Given the description of an element on the screen output the (x, y) to click on. 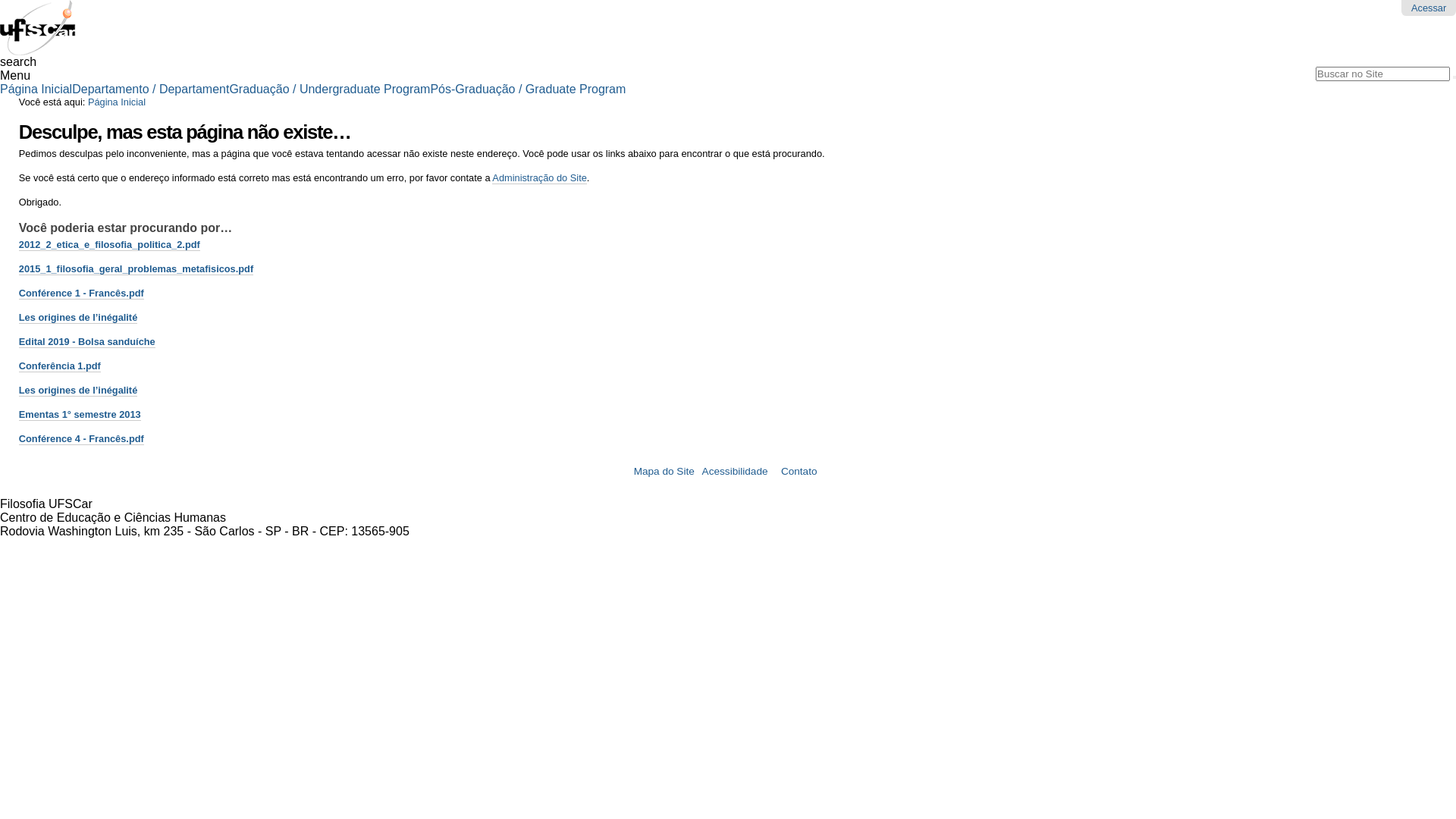
Departamento / Departament Element type: text (150, 88)
Contato Element type: text (799, 470)
2012_2_etica_e_filosofia_politica_2.pdf Element type: text (109, 244)
Menu Element type: text (15, 75)
search Element type: text (18, 61)
Acessar Element type: text (1428, 7)
2015_1_filosofia_geral_problemas_metafisicos.pdf Element type: text (135, 269)
Portal UFSCar Element type: hover (37, 48)
Acessibilidade Element type: text (735, 470)
Buscar no Site Element type: hover (1382, 73)
Mapa do Site Element type: text (663, 470)
